Given the description of an element on the screen output the (x, y) to click on. 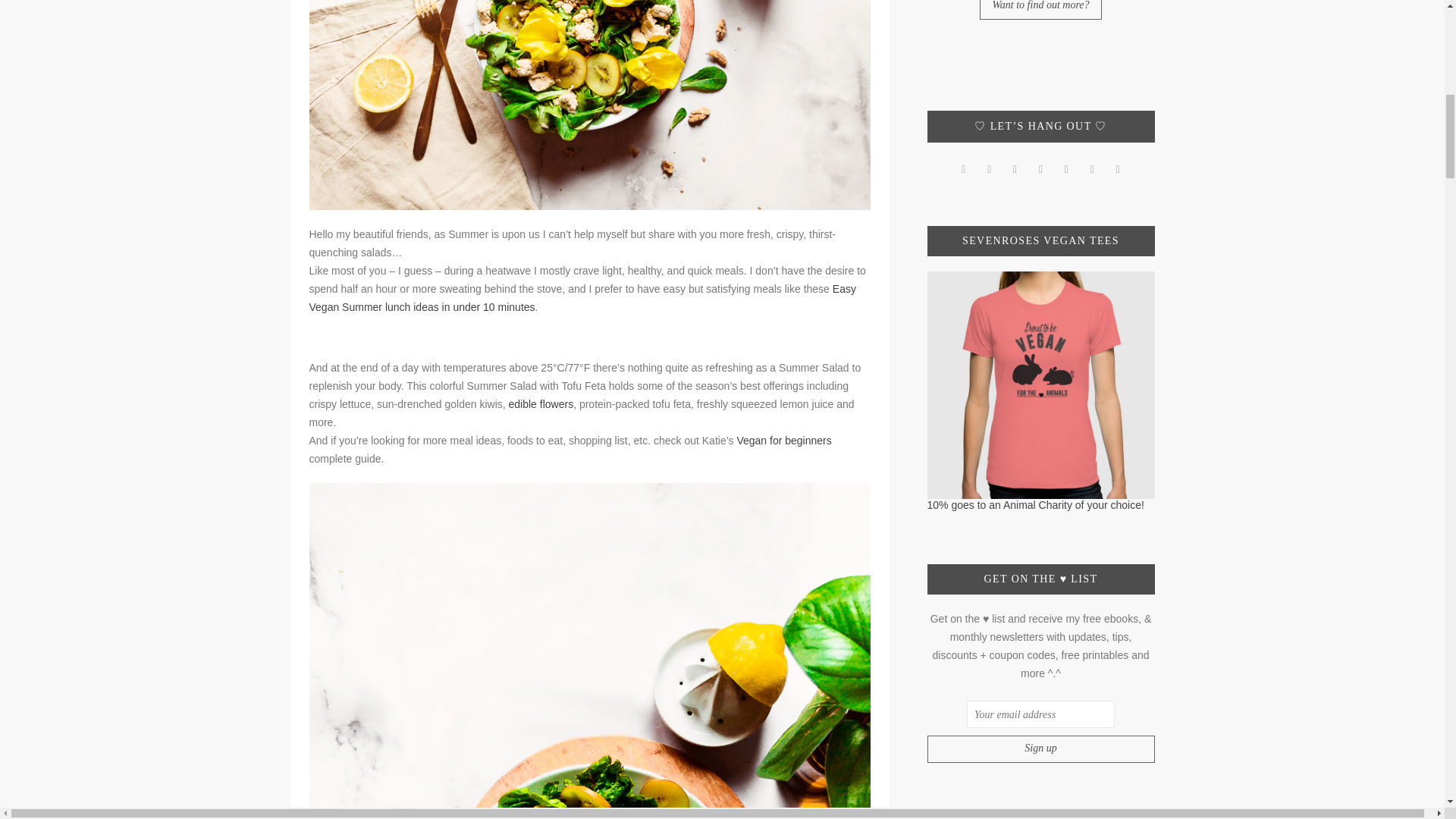
Sign up (1040, 748)
